Given the description of an element on the screen output the (x, y) to click on. 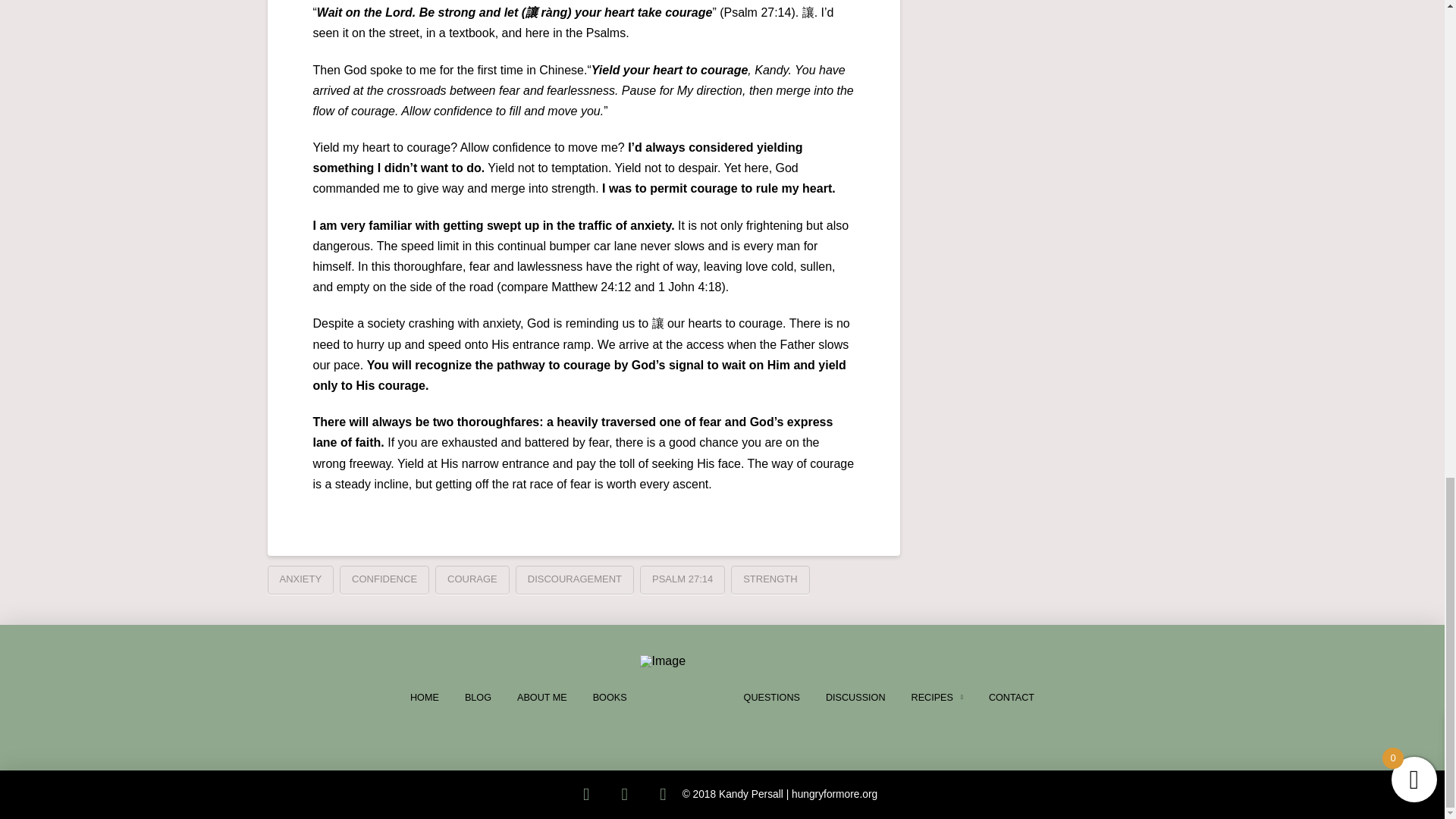
DISCOURAGEMENT (574, 579)
COURAGE (472, 579)
CONFIDENCE (384, 579)
PSALM 27:14 (682, 579)
ANXIETY (299, 579)
STRENGTH (769, 579)
